Given the description of an element on the screen output the (x, y) to click on. 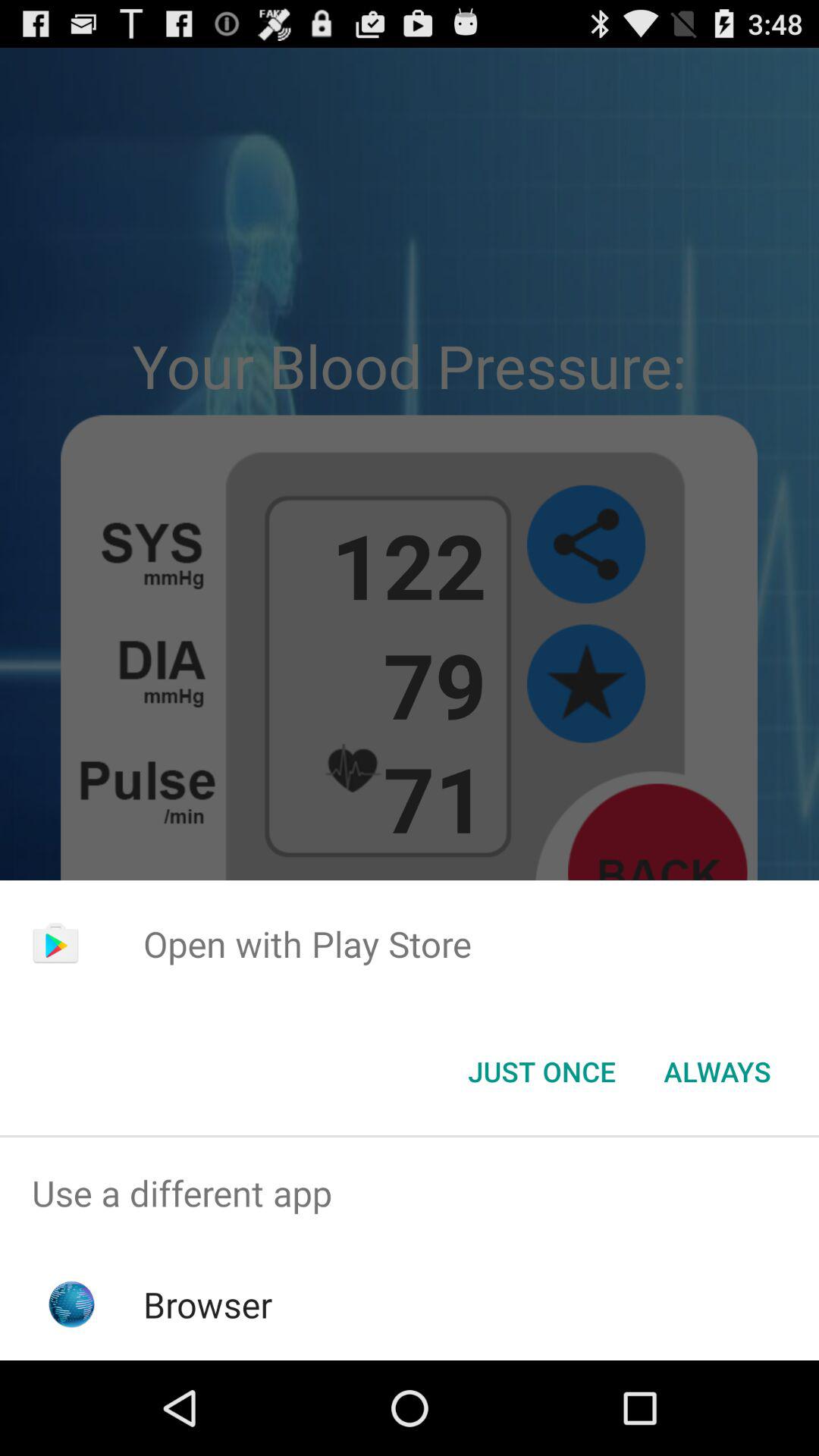
swipe to the browser item (207, 1304)
